Given the description of an element on the screen output the (x, y) to click on. 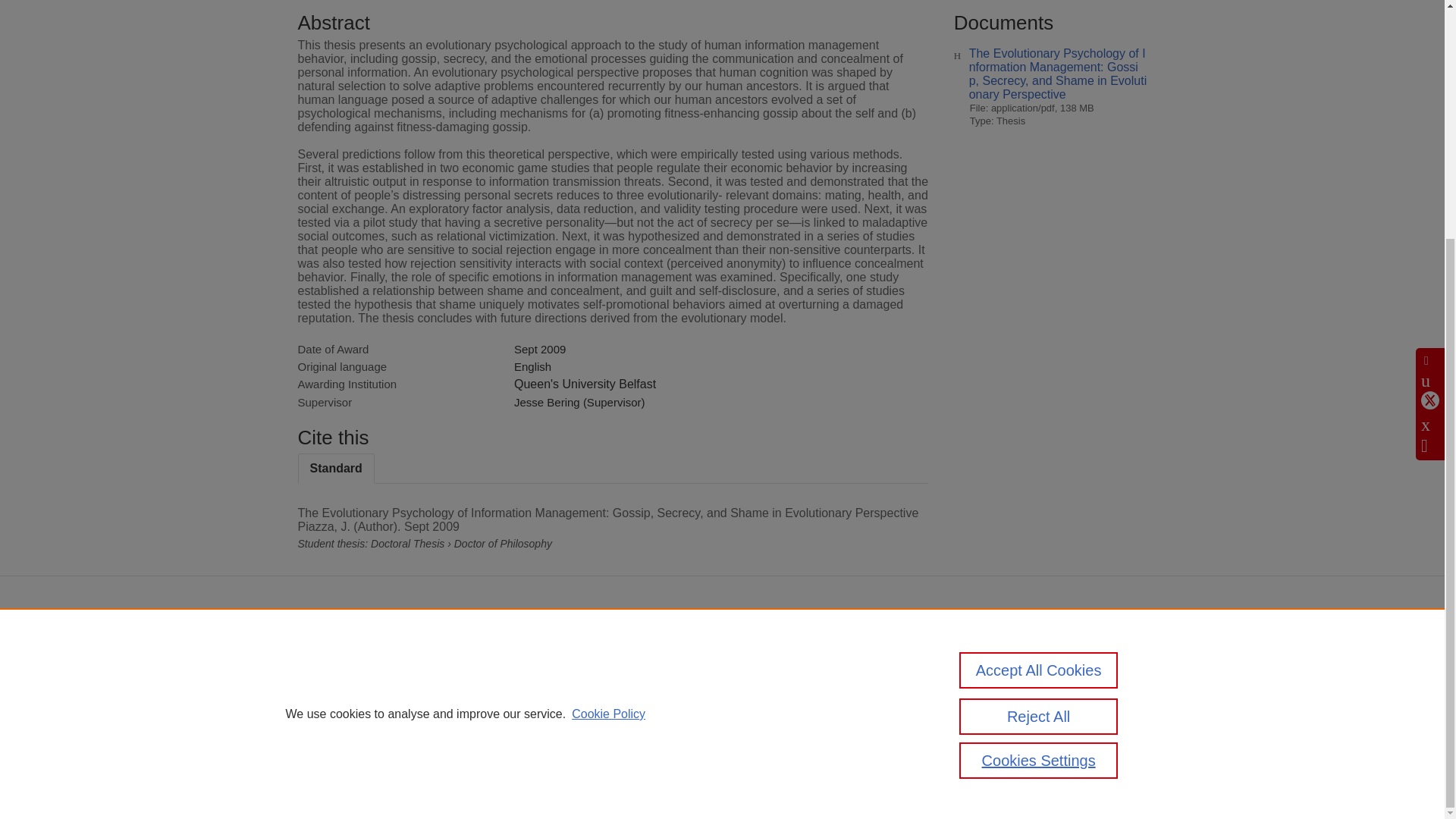
Elsevier B.V. (603, 672)
Scopus (493, 651)
Cookie Policy (608, 385)
Cookies Settings (1038, 432)
About web accessibility (1006, 683)
Report vulnerability (997, 704)
use of cookies (642, 721)
Contact us (1123, 657)
Cookies Settings (433, 747)
